Given the description of an element on the screen output the (x, y) to click on. 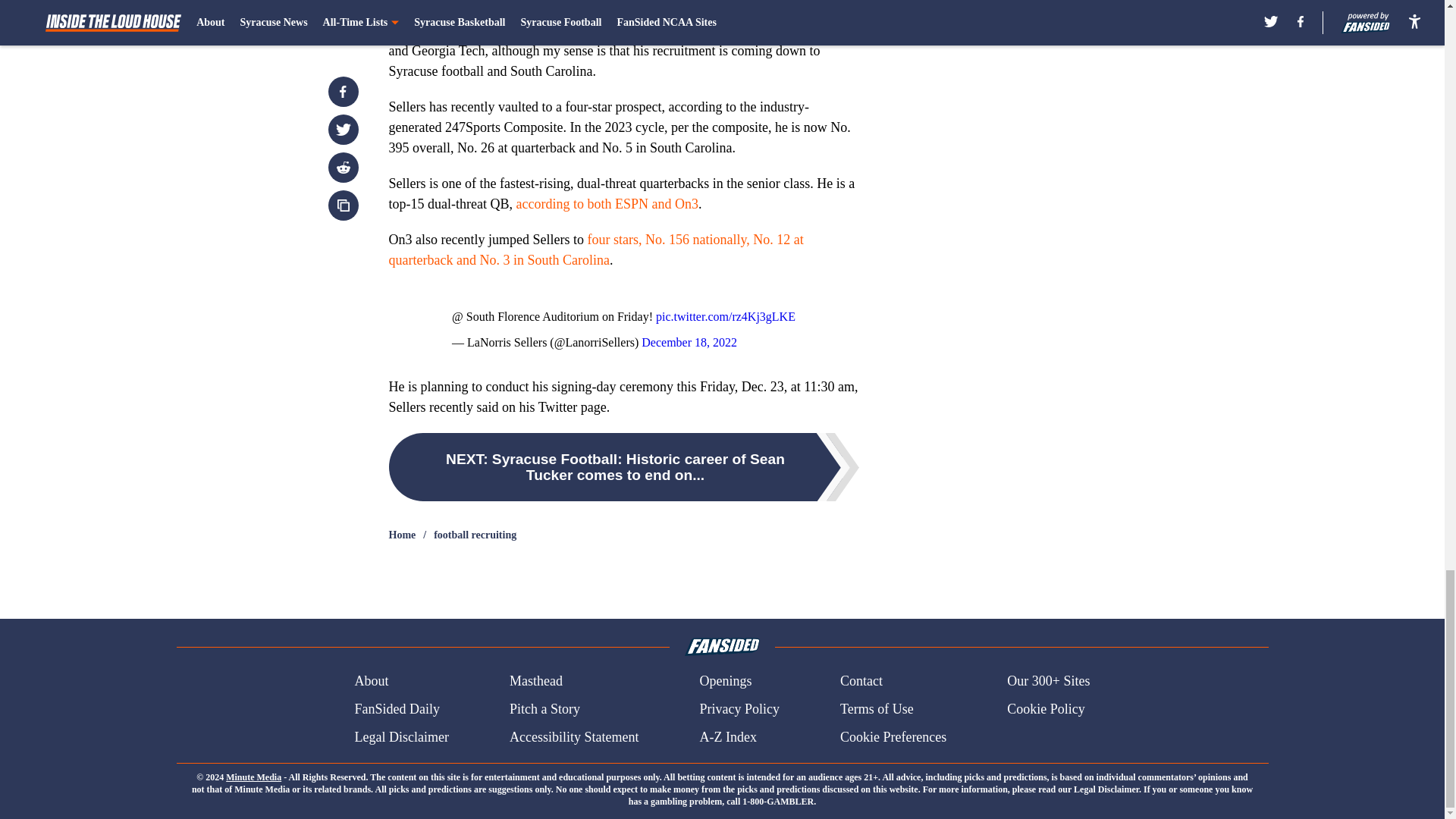
FanSided Daily (396, 709)
December 18, 2022 (689, 341)
according to both ESPN and On3 (606, 203)
football recruiting (474, 534)
Home (401, 534)
Masthead (535, 680)
Contact (861, 680)
About (370, 680)
Openings (724, 680)
